Given the description of an element on the screen output the (x, y) to click on. 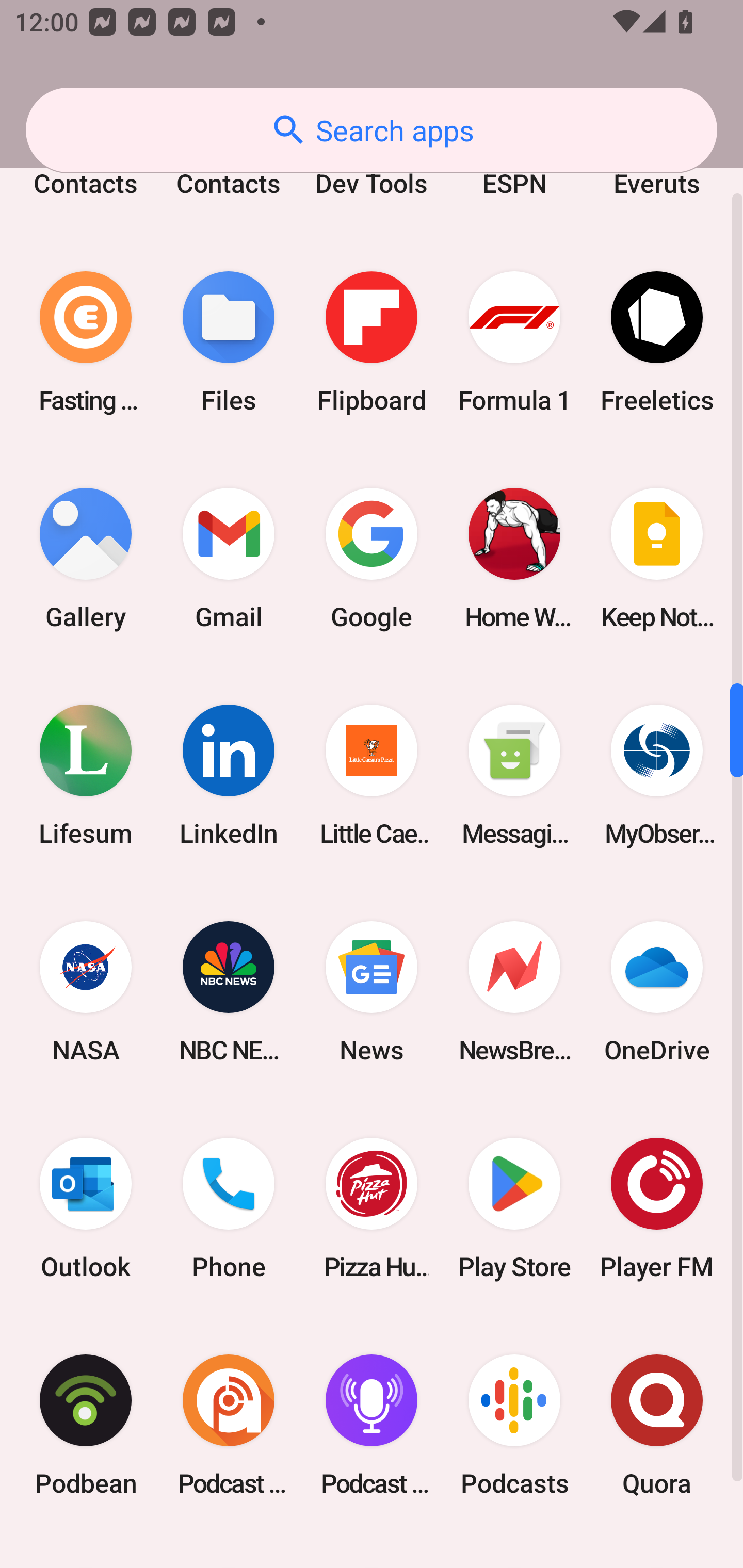
  Search apps (371, 130)
Fasting Coach (85, 341)
Files (228, 341)
Flipboard (371, 341)
Formula 1 (514, 341)
Freeletics (656, 341)
Gallery (85, 558)
Gmail (228, 558)
Google (371, 558)
Home Workout (514, 558)
Keep Notes (656, 558)
Lifesum (85, 774)
LinkedIn (228, 774)
Little Caesars Pizza (371, 774)
Messaging (514, 774)
MyObservatory (656, 774)
NASA (85, 991)
NBC NEWS (228, 991)
News (371, 991)
NewsBreak (514, 991)
OneDrive (656, 991)
Outlook (85, 1208)
Phone (228, 1208)
Pizza Hut HK & Macau (371, 1208)
Play Store (514, 1208)
Player FM (656, 1208)
Podbean (85, 1425)
Podcast Addict (228, 1425)
Podcast Player (371, 1425)
Podcasts (514, 1425)
Quora (656, 1425)
